Given the description of an element on the screen output the (x, y) to click on. 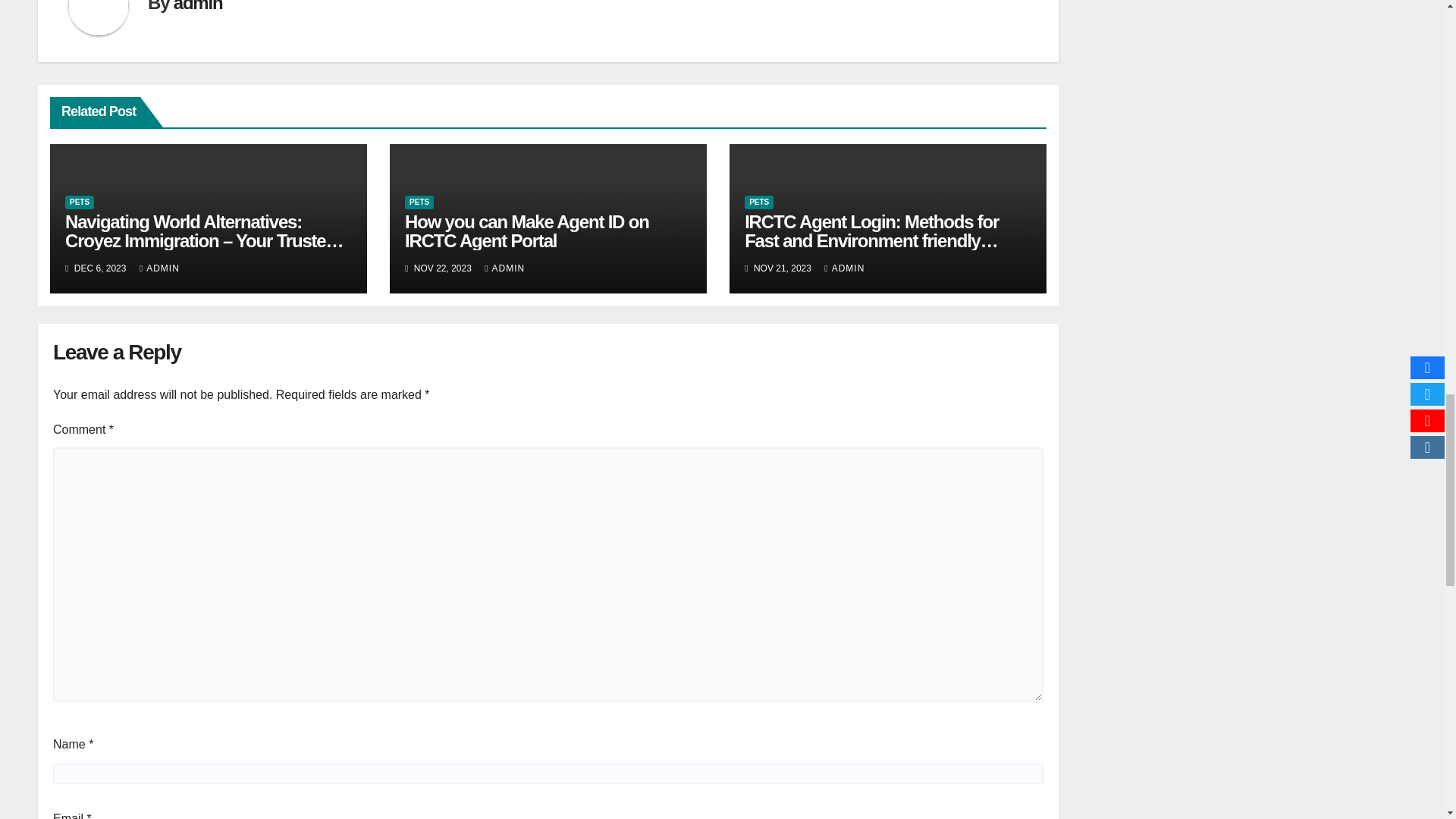
ADMIN (844, 267)
admin (197, 6)
PETS (79, 202)
ADMIN (504, 267)
How you can Make Agent ID on IRCTC Agent Portal (526, 230)
PETS (758, 202)
ADMIN (159, 267)
